Given the description of an element on the screen output the (x, y) to click on. 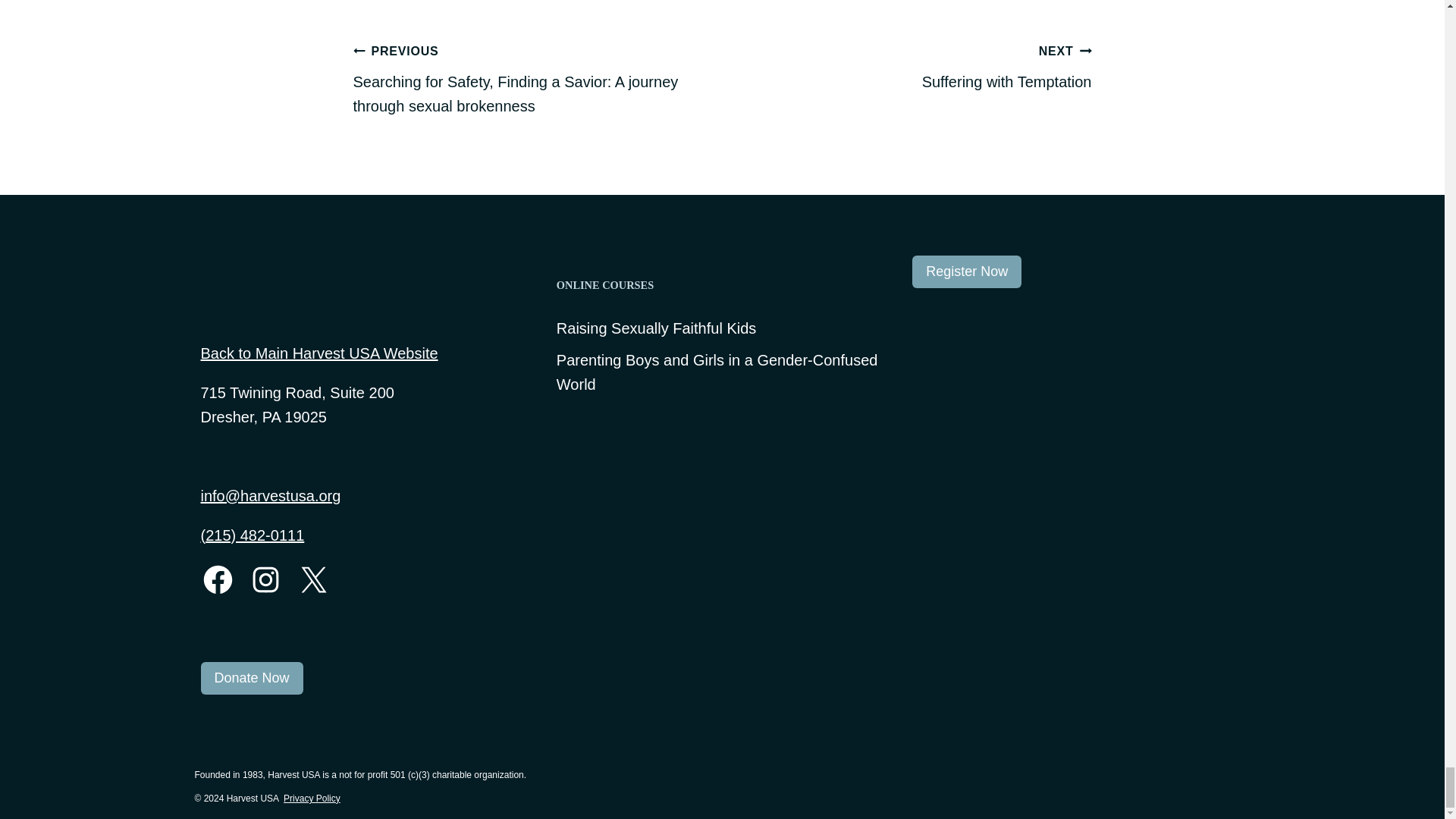
Parenting Boys and Girls in a Gender-Confused World (911, 65)
Back to Main Harvest USA Website (722, 372)
Privacy Policy (319, 352)
Donate Now (311, 798)
Raising Sexually Faithful Kids (251, 677)
Register Now (655, 328)
Follow Harvest USA on Facebook (967, 271)
ONLINE COURSES (217, 579)
